Given the description of an element on the screen output the (x, y) to click on. 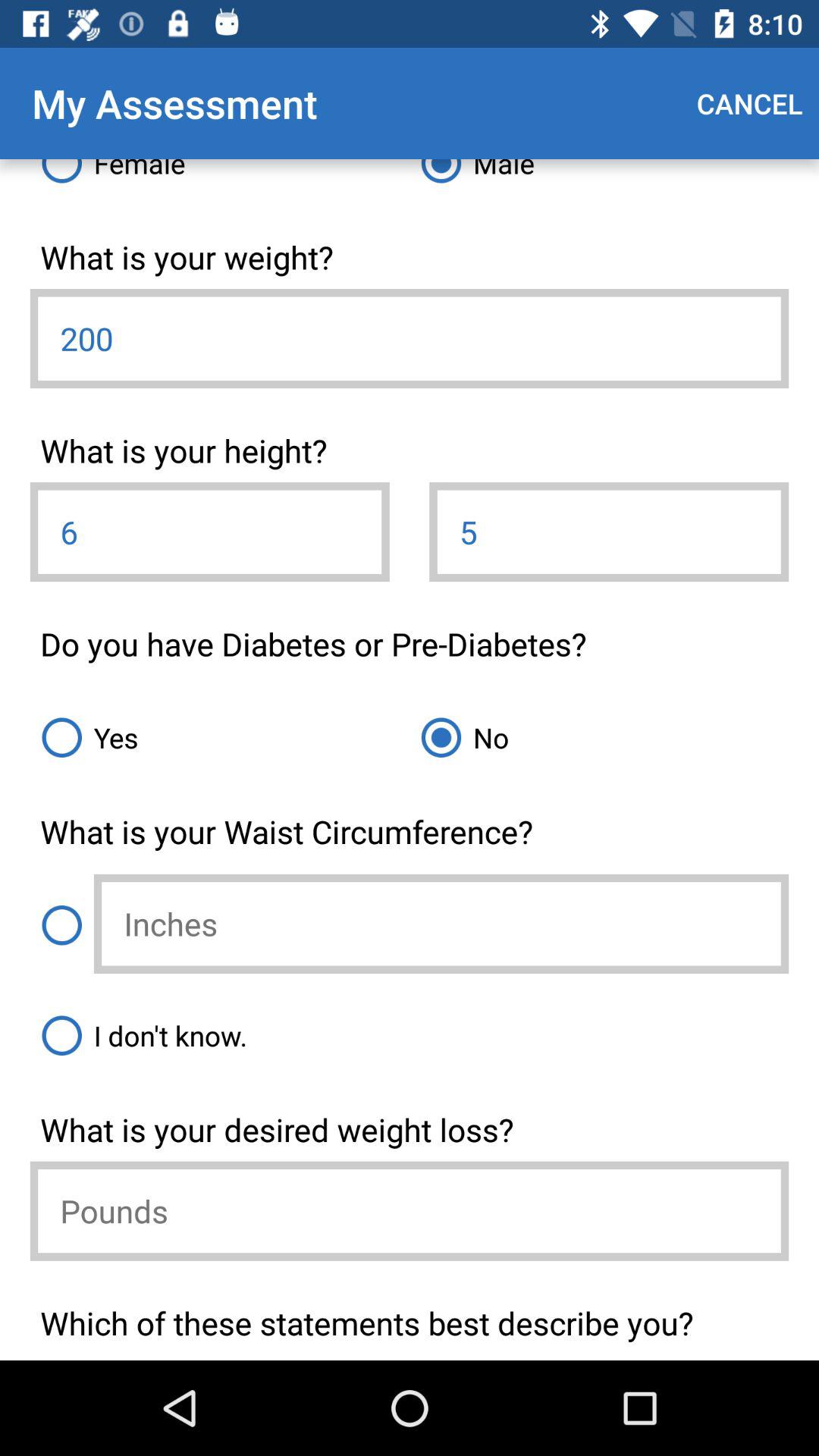
press the item above the what is your (598, 177)
